Given the description of an element on the screen output the (x, y) to click on. 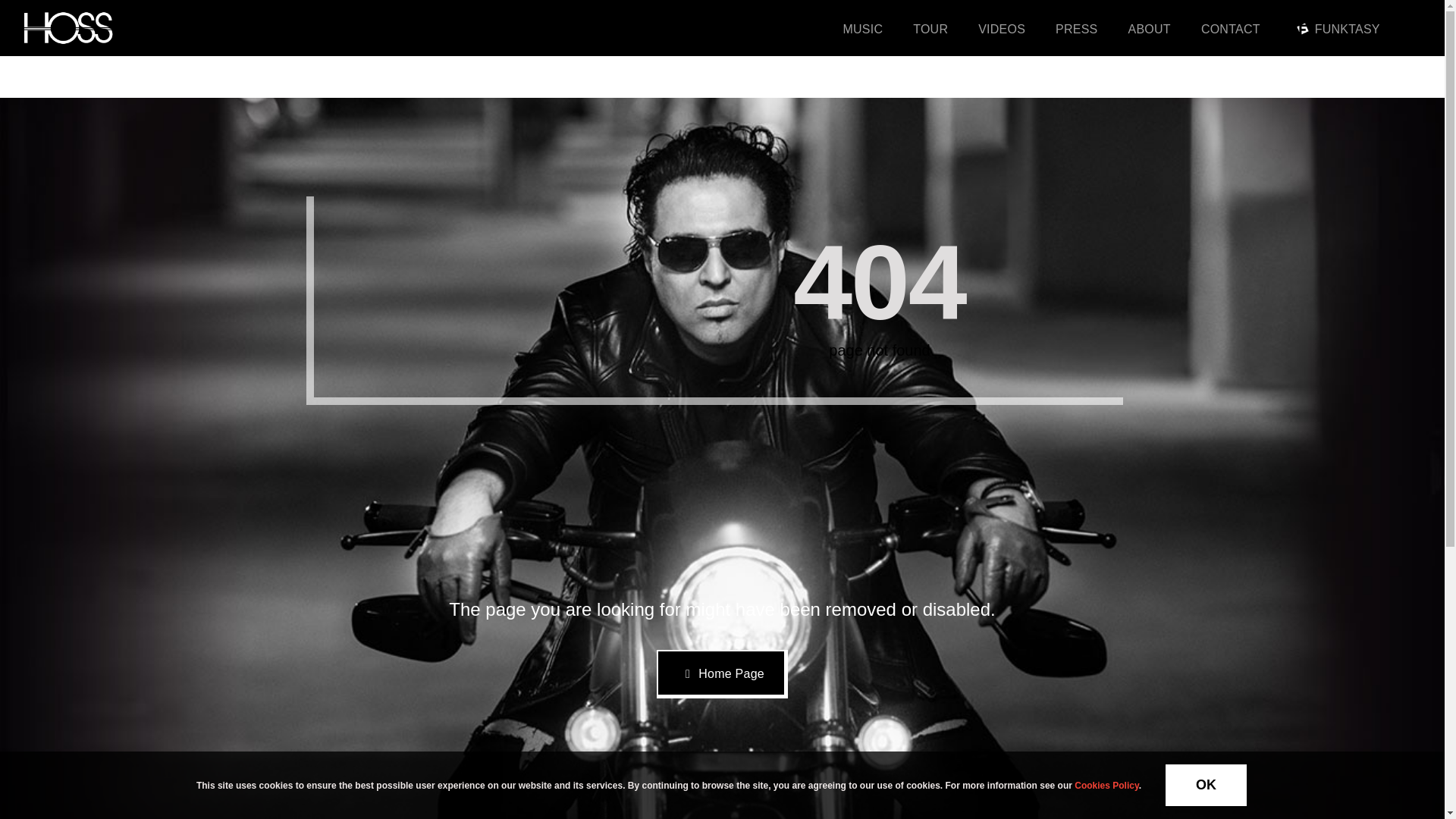
Home Page (721, 674)
Funktasy (1302, 28)
VIDEOS (1001, 28)
FUNKTASY (1335, 28)
Cookies Policy (1106, 784)
CONTACT (1230, 28)
